Given the description of an element on the screen output the (x, y) to click on. 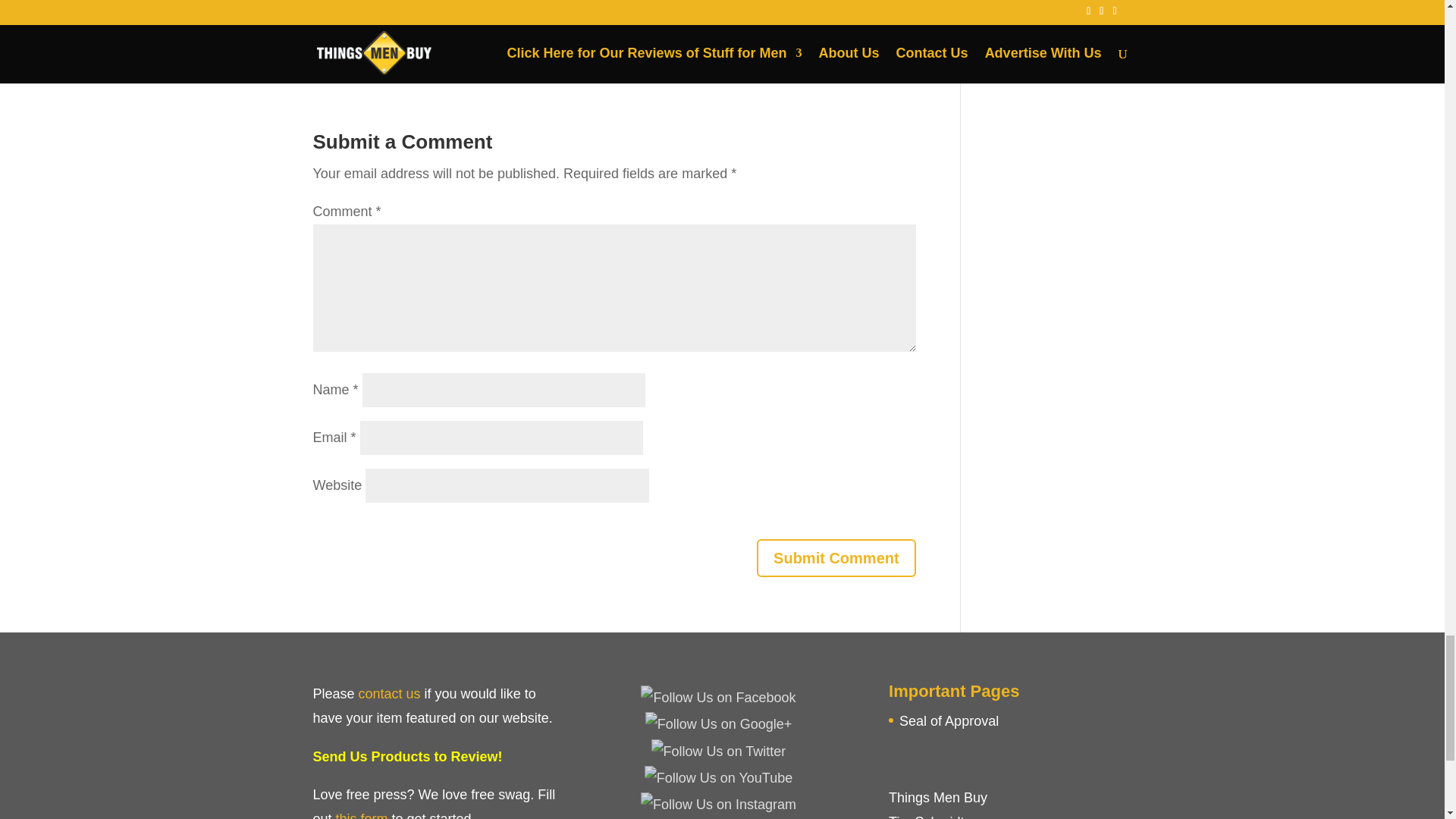
Follow Us on Instagram (718, 804)
Follow Us on YouTube (718, 777)
Submit Comment (836, 557)
Submit Comment (836, 557)
Follow Us on Facebook (717, 697)
Follow Us on Twitter (718, 751)
